Given the description of an element on the screen output the (x, y) to click on. 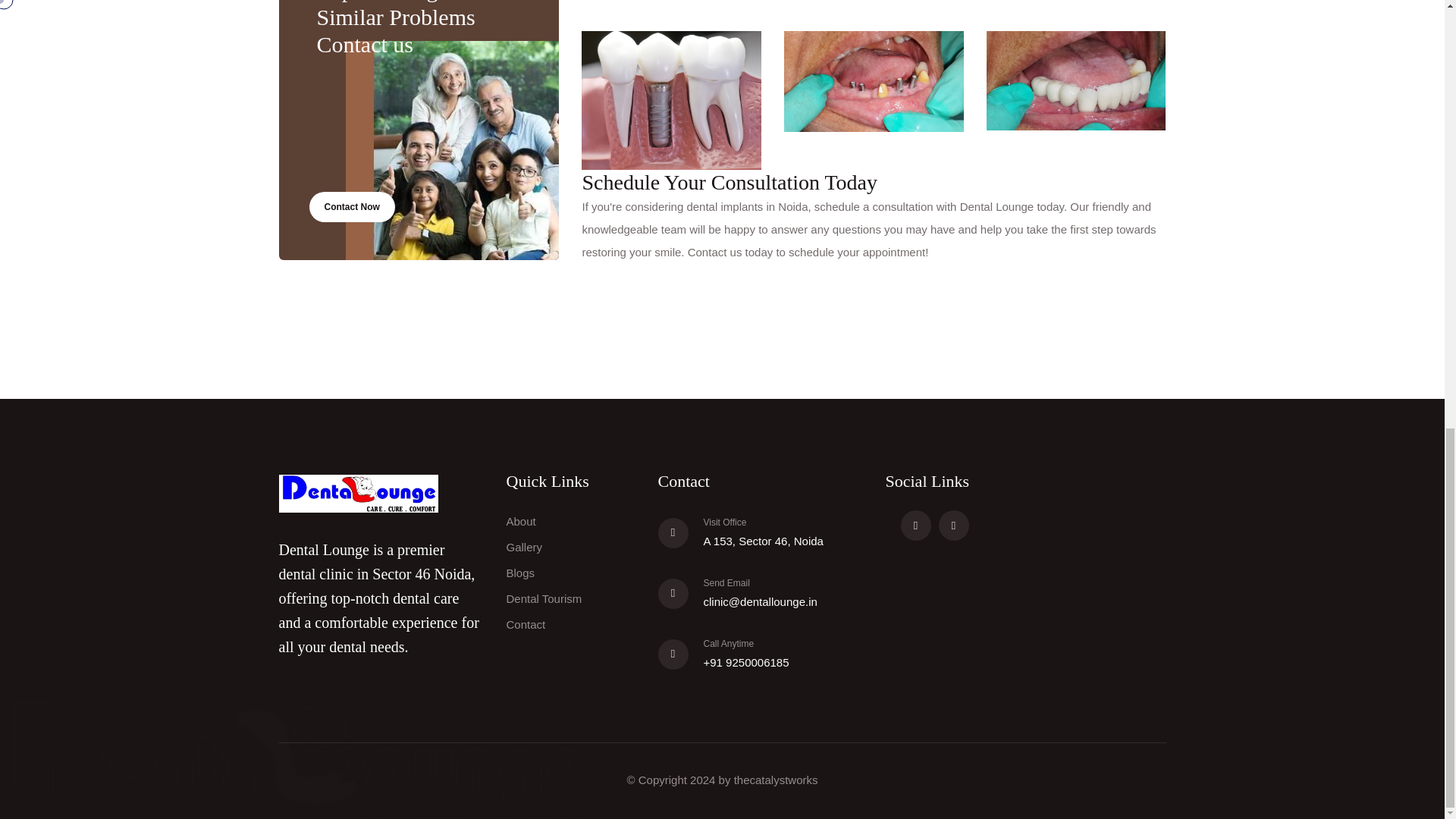
thecatalystworks (775, 779)
Blogs (520, 572)
Dental Tourism (544, 598)
Gallery (524, 546)
Contact (526, 624)
About (520, 521)
Contact Now (351, 206)
